Given the description of an element on the screen output the (x, y) to click on. 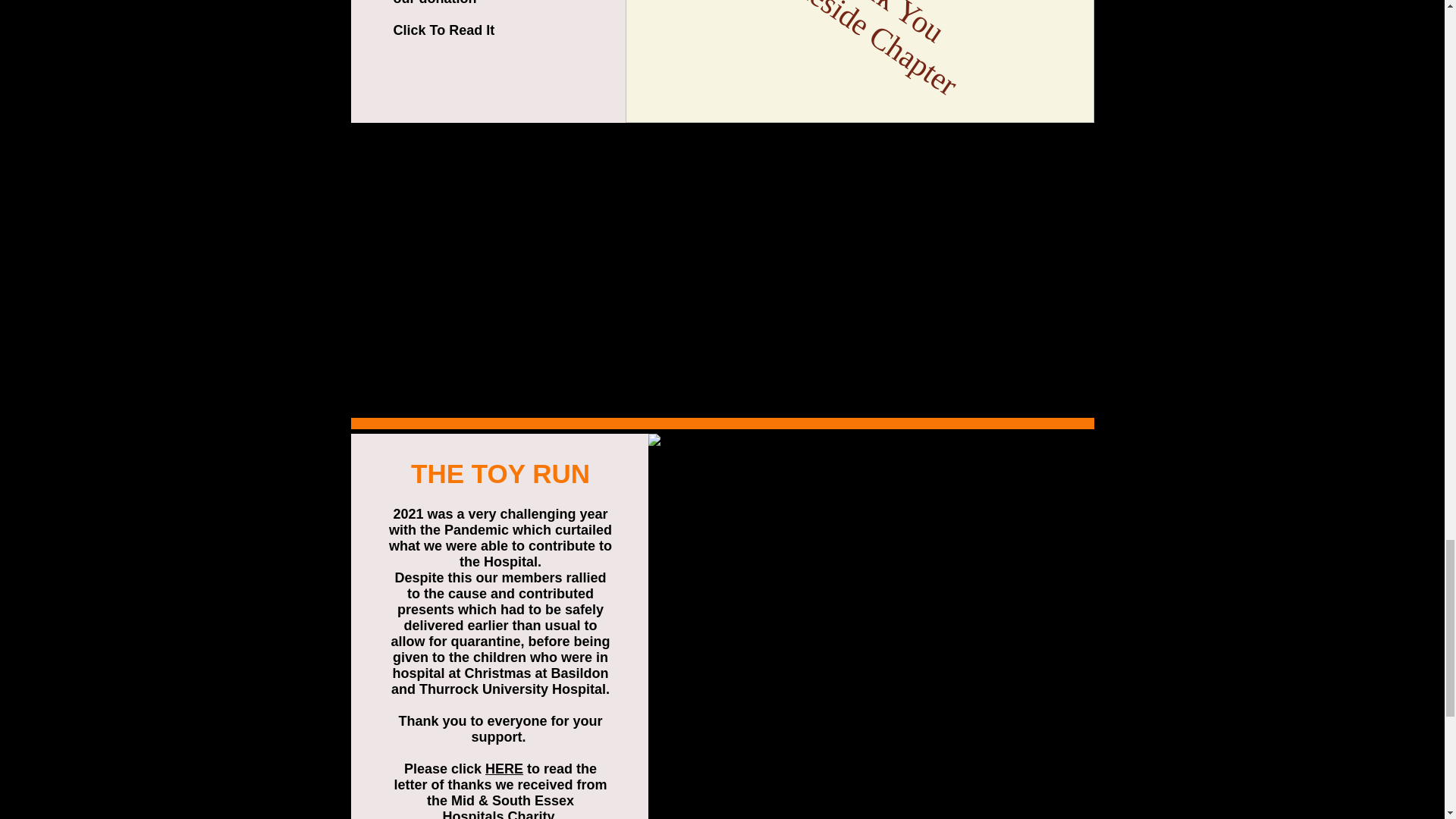
HERE (503, 768)
Aaron Lewis .pdf (513, 29)
